Given the description of an element on the screen output the (x, y) to click on. 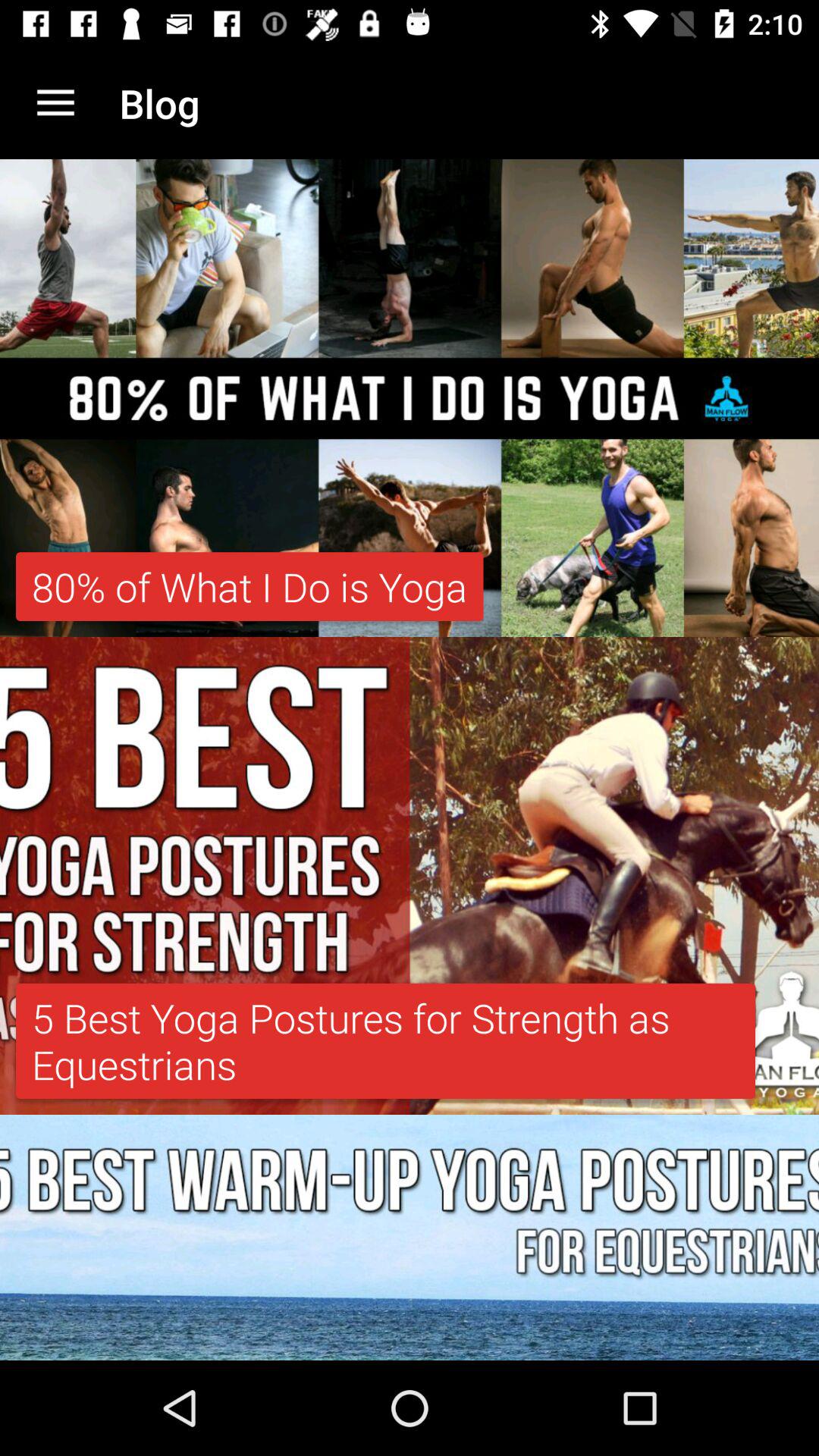
turn on app next to the blog item (55, 103)
